Given the description of an element on the screen output the (x, y) to click on. 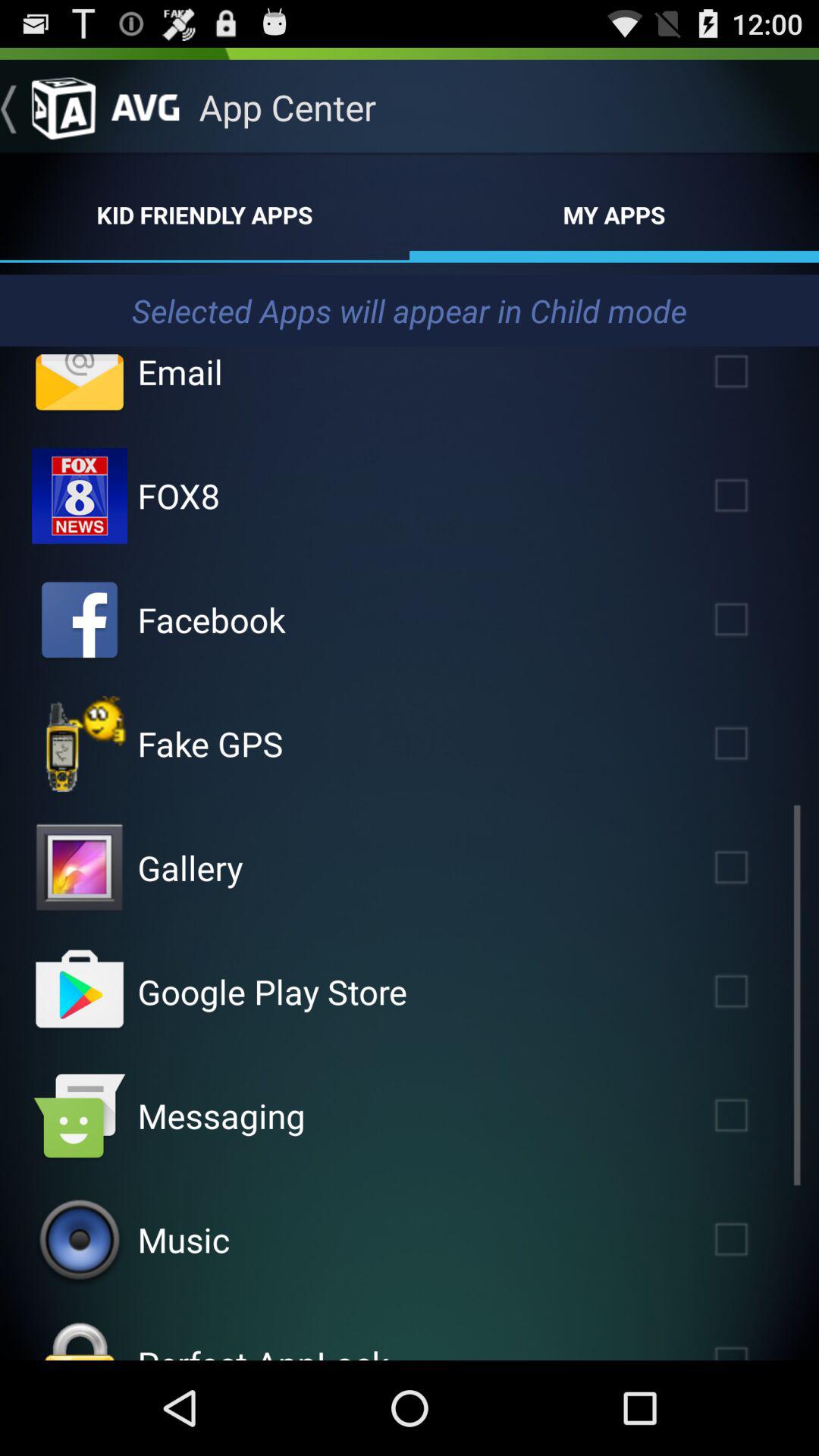
flip until the fake gps icon (210, 743)
